Given the description of an element on the screen output the (x, y) to click on. 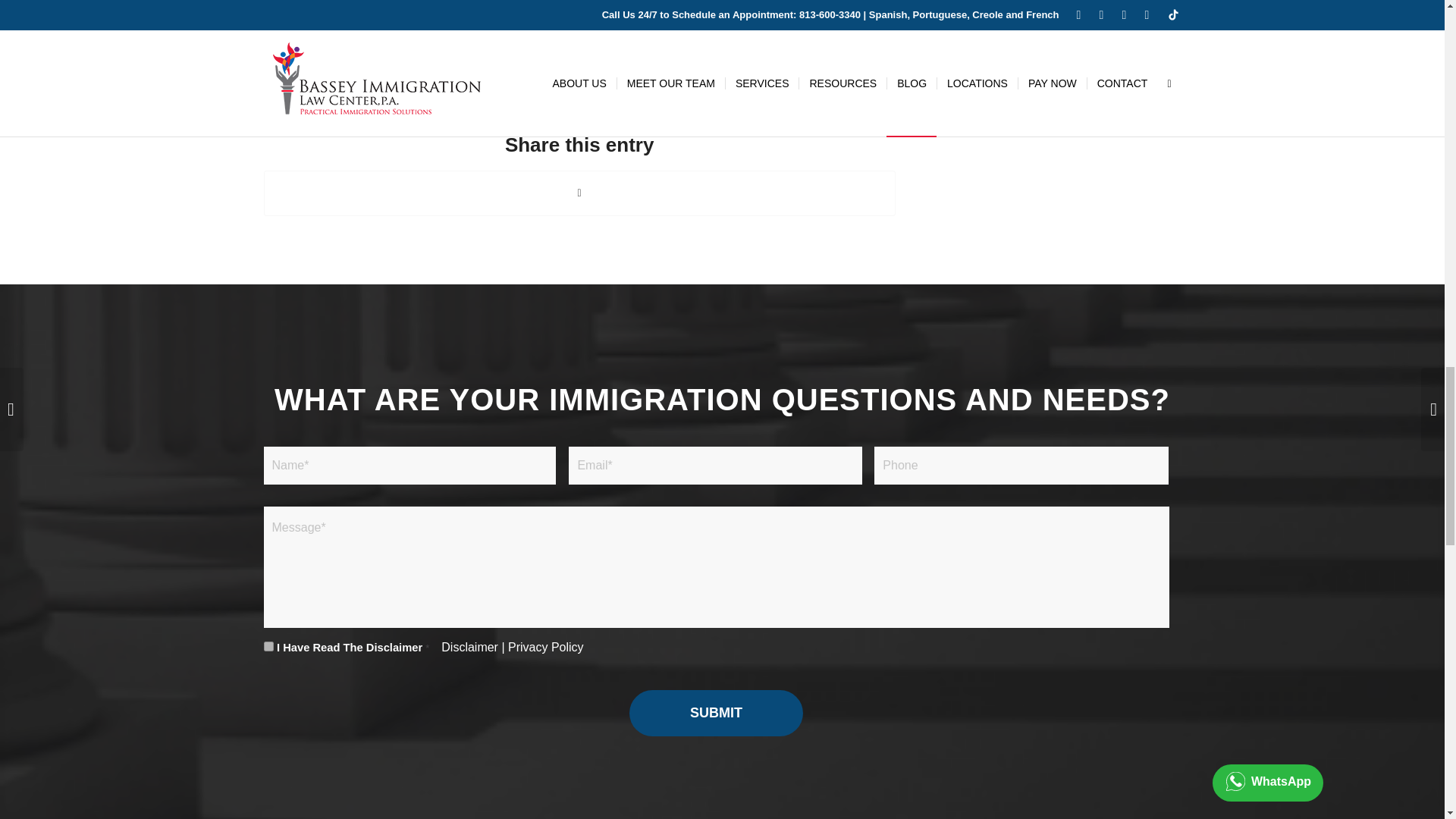
Submit (715, 713)
1 (268, 646)
Posts by On behalf of Bassey Immigration Law Center, P.A. (642, 85)
